Given the description of an element on the screen output the (x, y) to click on. 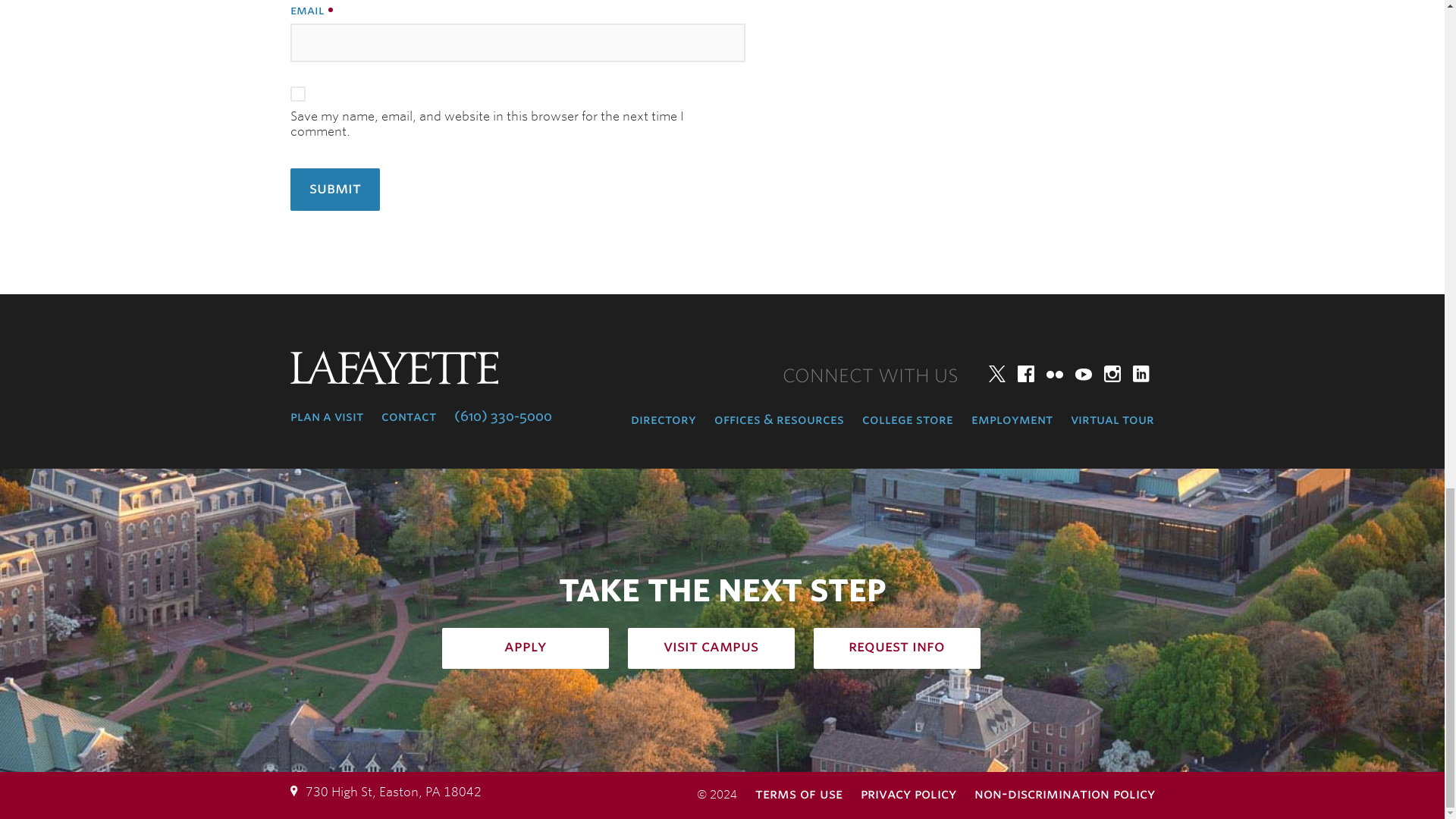
submit (333, 189)
